Given the description of an element on the screen output the (x, y) to click on. 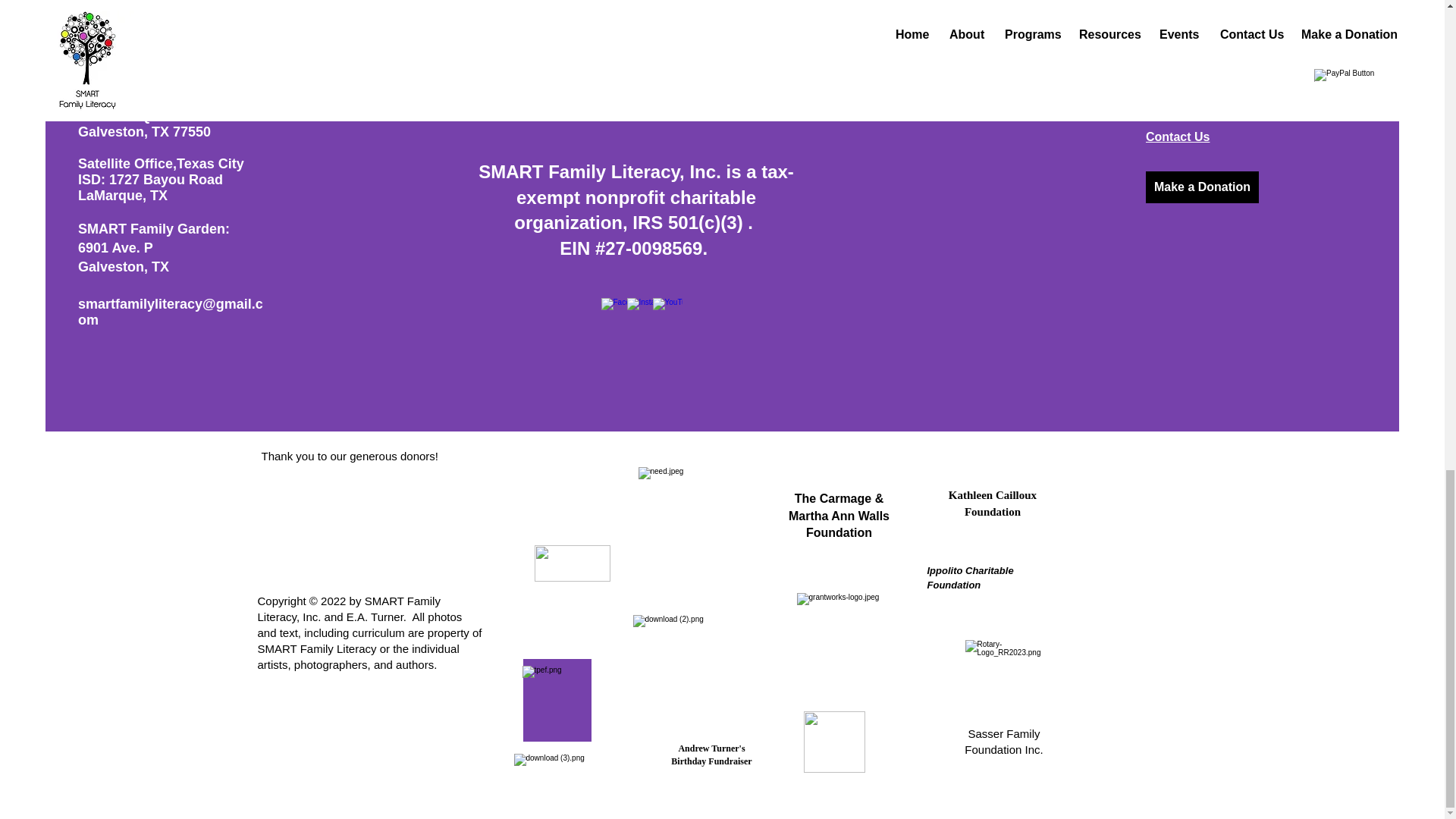
Home (1162, 15)
Resources (1176, 88)
Programs (1173, 63)
About (1162, 39)
Events (1165, 112)
Make a Donation (1202, 187)
Contact Us (1177, 136)
Submit (769, 77)
